Given the description of an element on the screen output the (x, y) to click on. 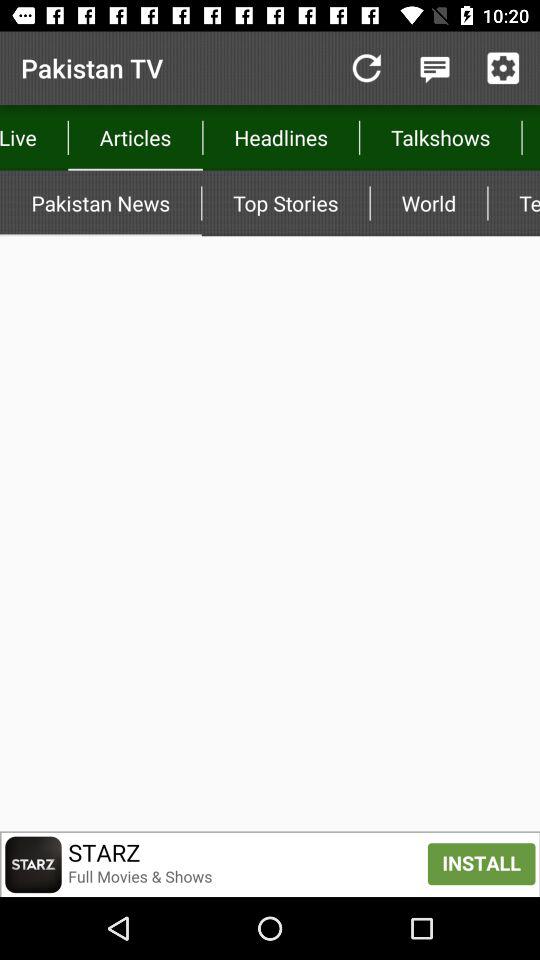
turn off pakistan news icon (100, 203)
